Given the description of an element on the screen output the (x, y) to click on. 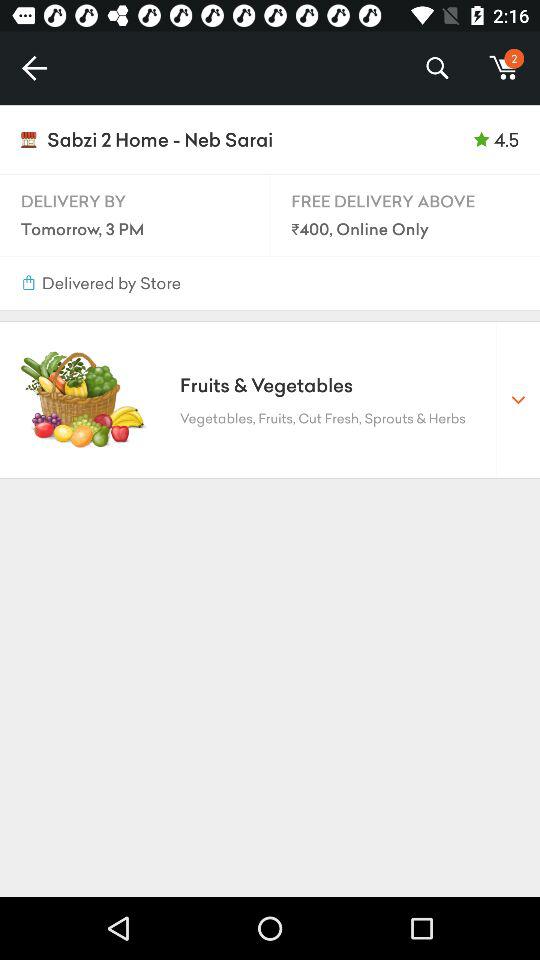
flip to m icon (503, 67)
